Given the description of an element on the screen output the (x, y) to click on. 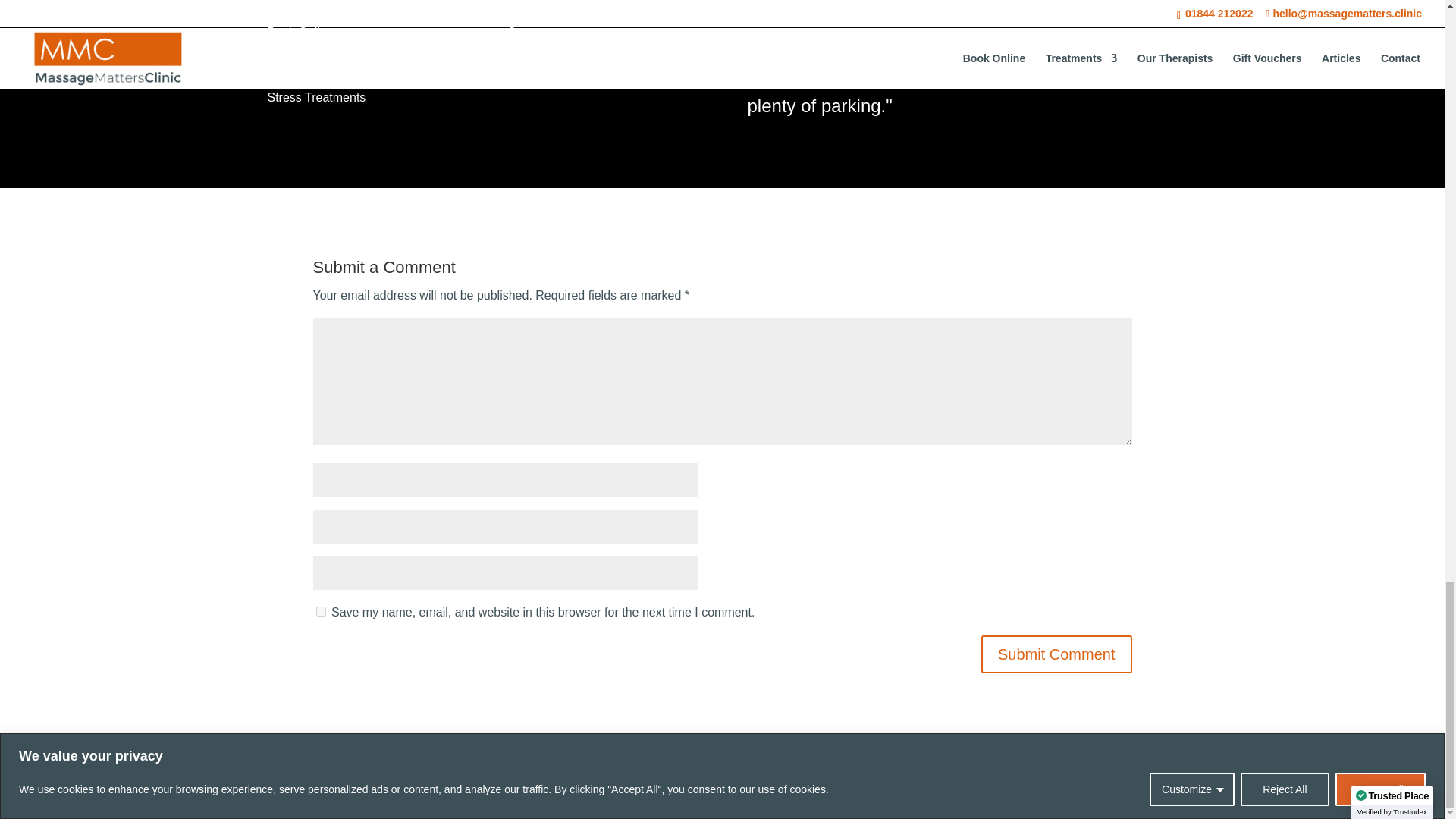
yes (319, 611)
Submit Comment (1056, 654)
